Given the description of an element on the screen output the (x, y) to click on. 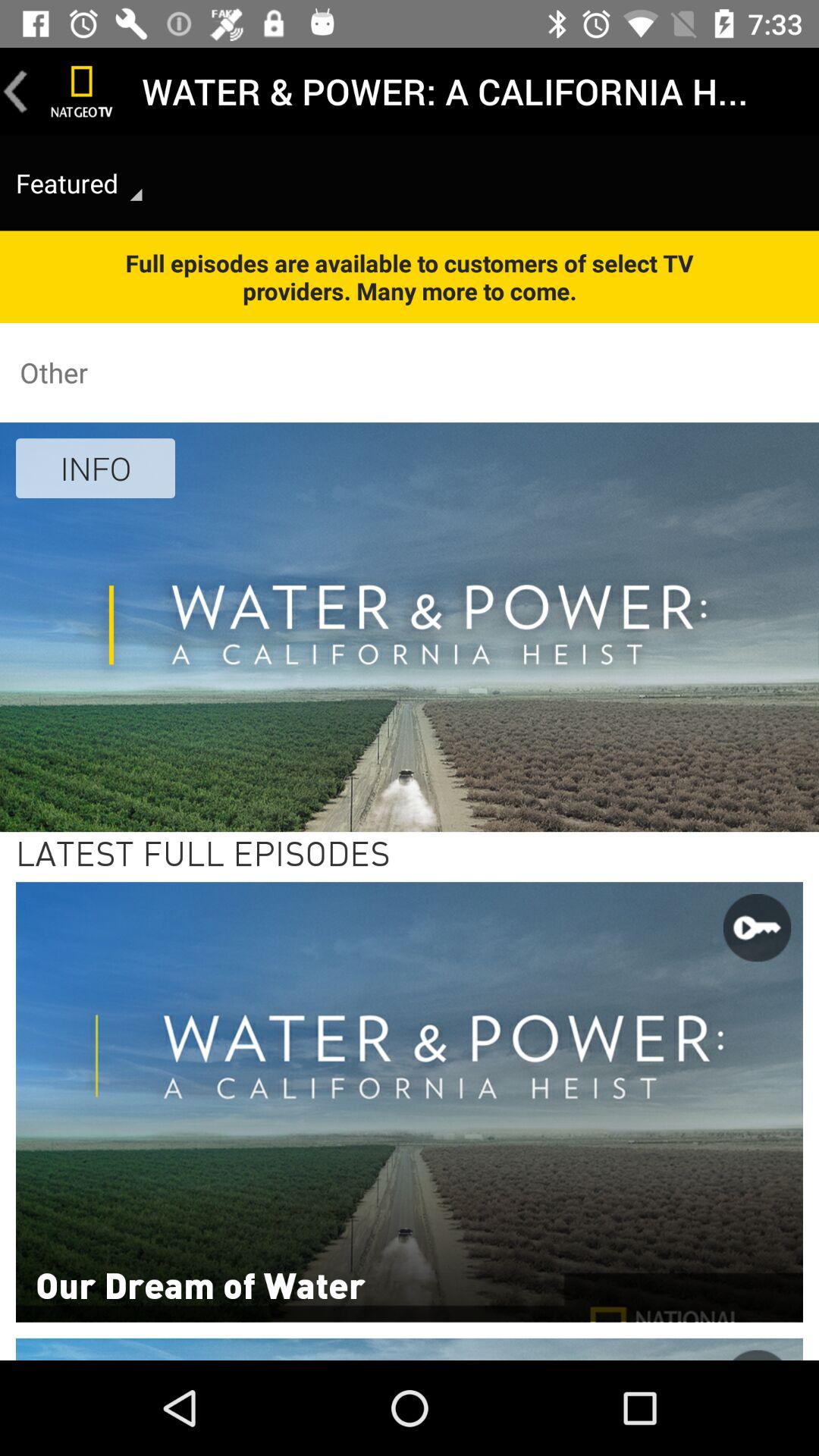
return to main app menu (81, 91)
